Given the description of an element on the screen output the (x, y) to click on. 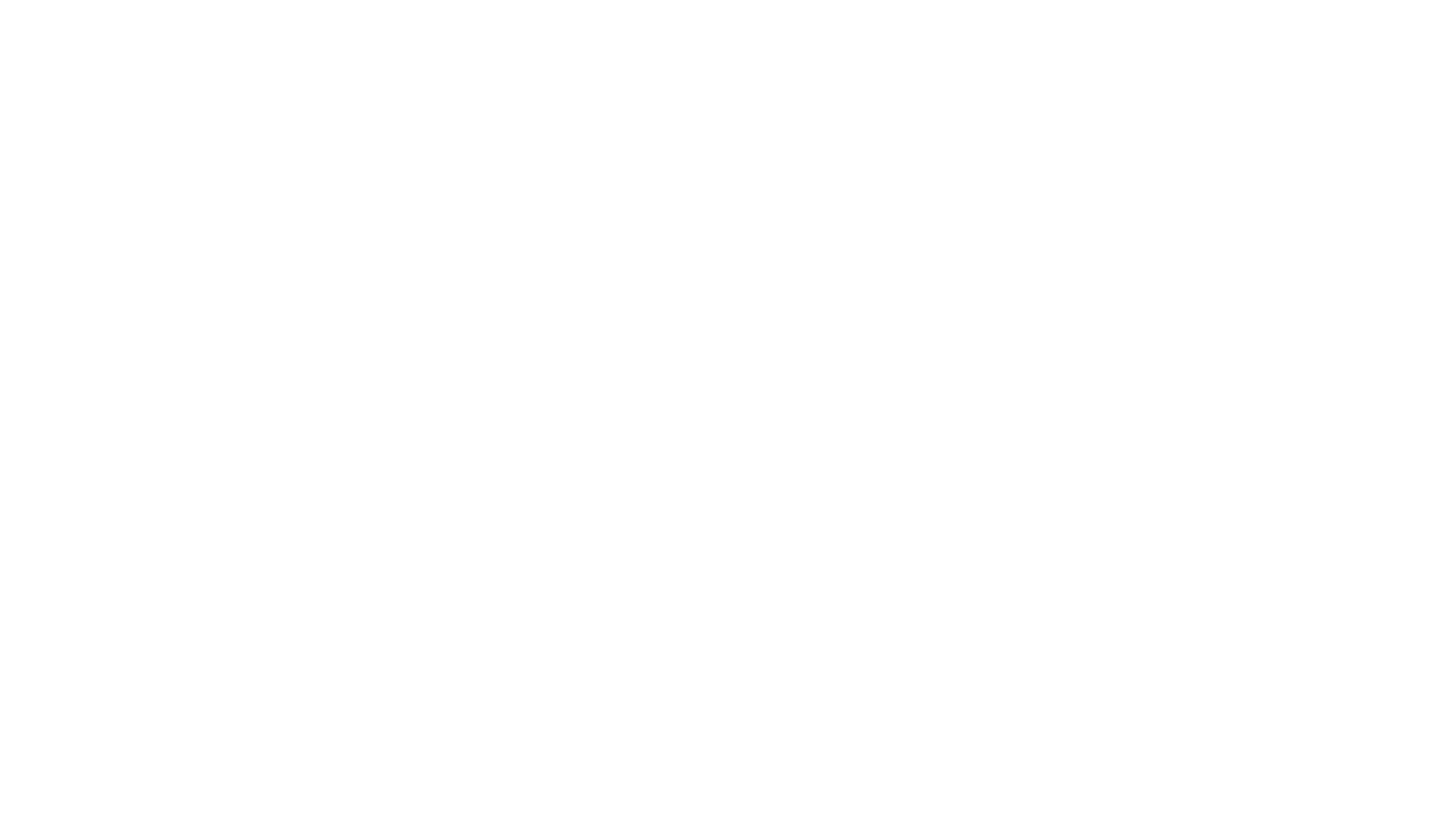
Login Element type: text (1064, 65)
